Given the description of an element on the screen output the (x, y) to click on. 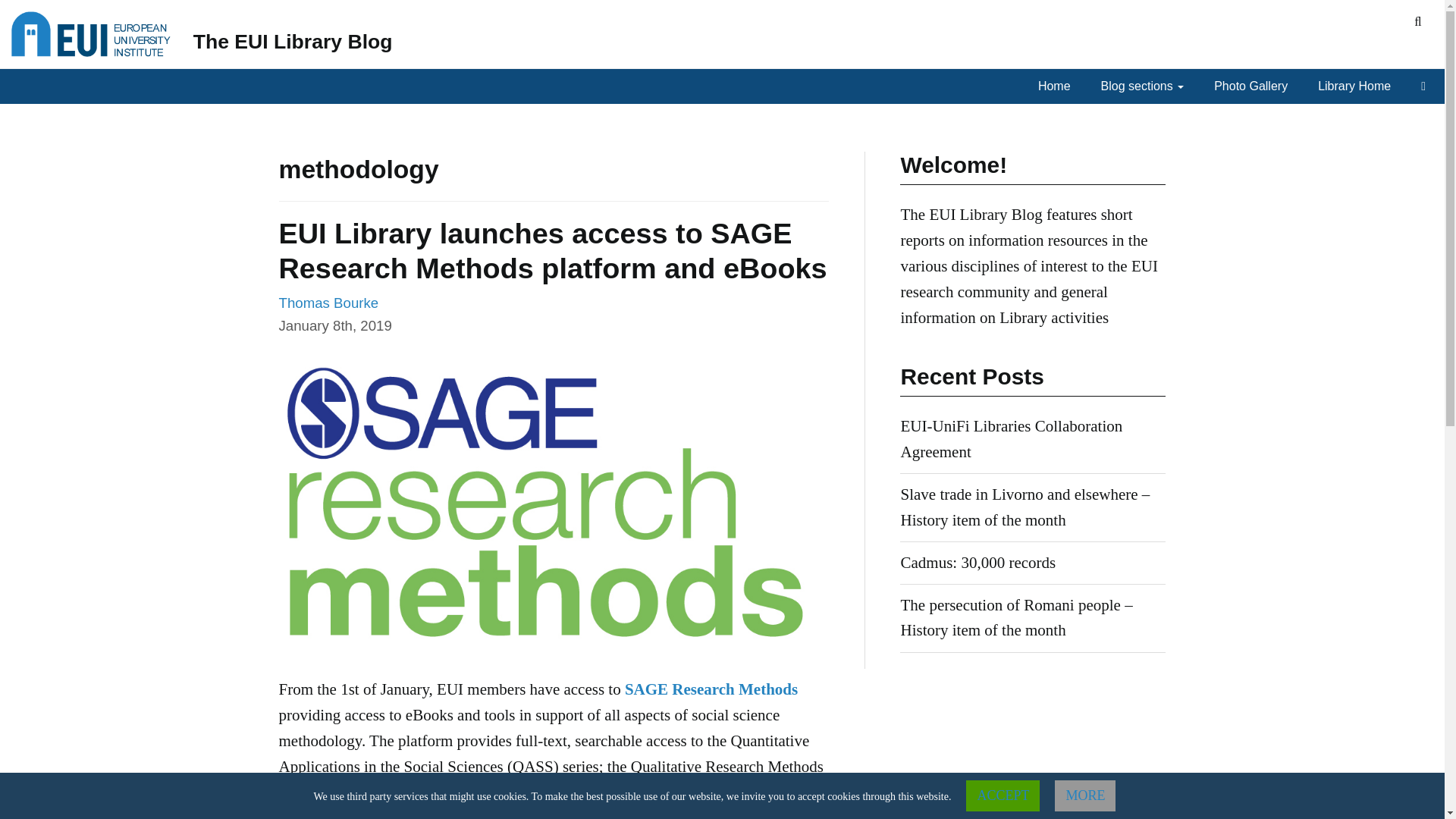
Home (1058, 86)
Toggle search box (1417, 22)
MORE (1084, 795)
The EUI Library Blog (293, 41)
Thomas Bourke (328, 302)
Photo Gallery (1254, 86)
SAGE Research Methods (710, 689)
EUI-UniFi Libraries Collaboration Agreement (1010, 438)
Home (1058, 86)
Blog sections (1146, 86)
Library Home (1357, 86)
Home page of The EUI Library Blog (293, 41)
Photo Gallery (1254, 86)
Blog sections (1146, 86)
